Given the description of an element on the screen output the (x, y) to click on. 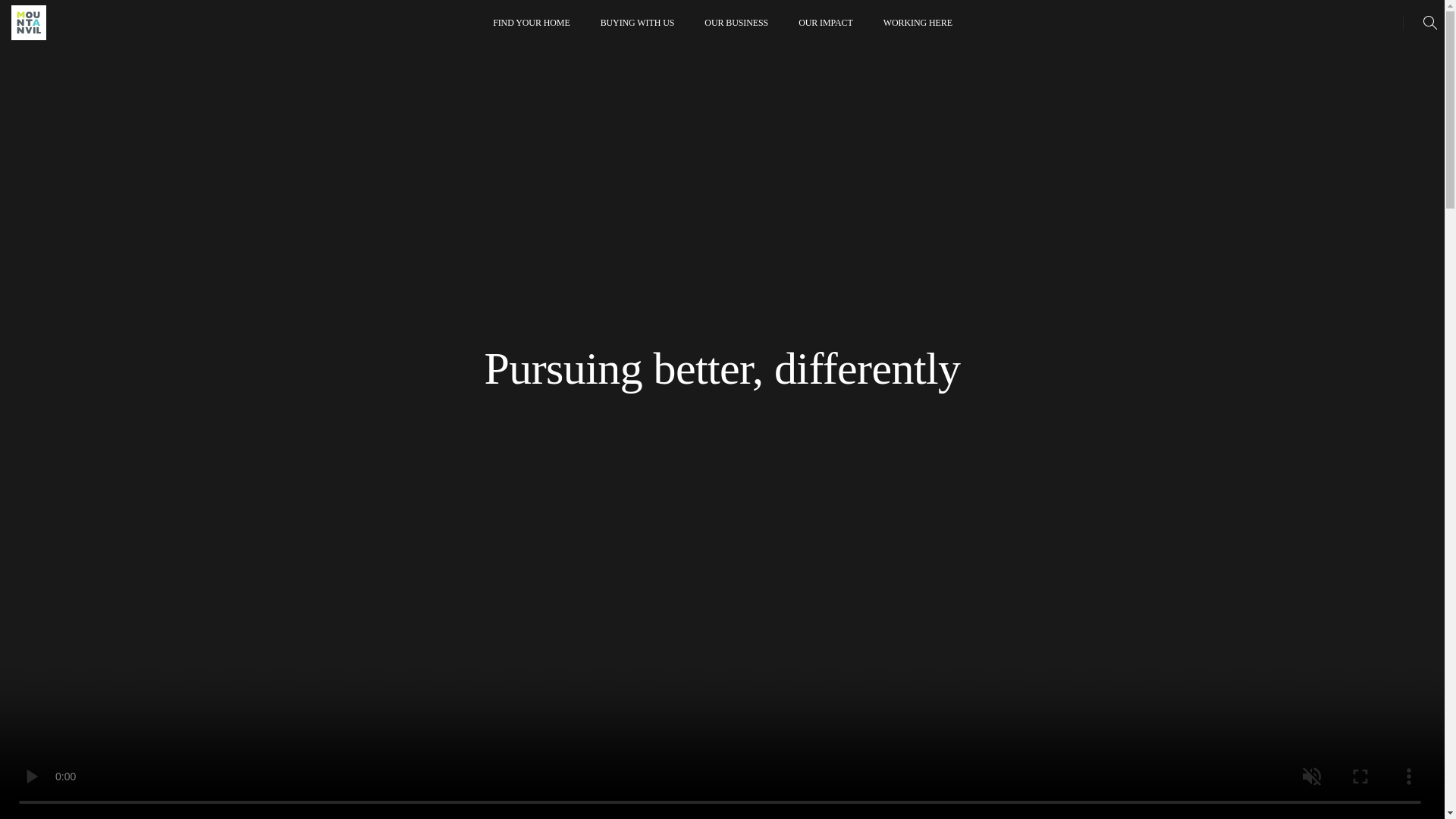
BUYING WITH US (637, 22)
WORKING HERE (917, 22)
OUR BUSINESS (736, 22)
FIND YOUR HOME (531, 22)
OUR IMPACT (825, 22)
